Given the description of an element on the screen output the (x, y) to click on. 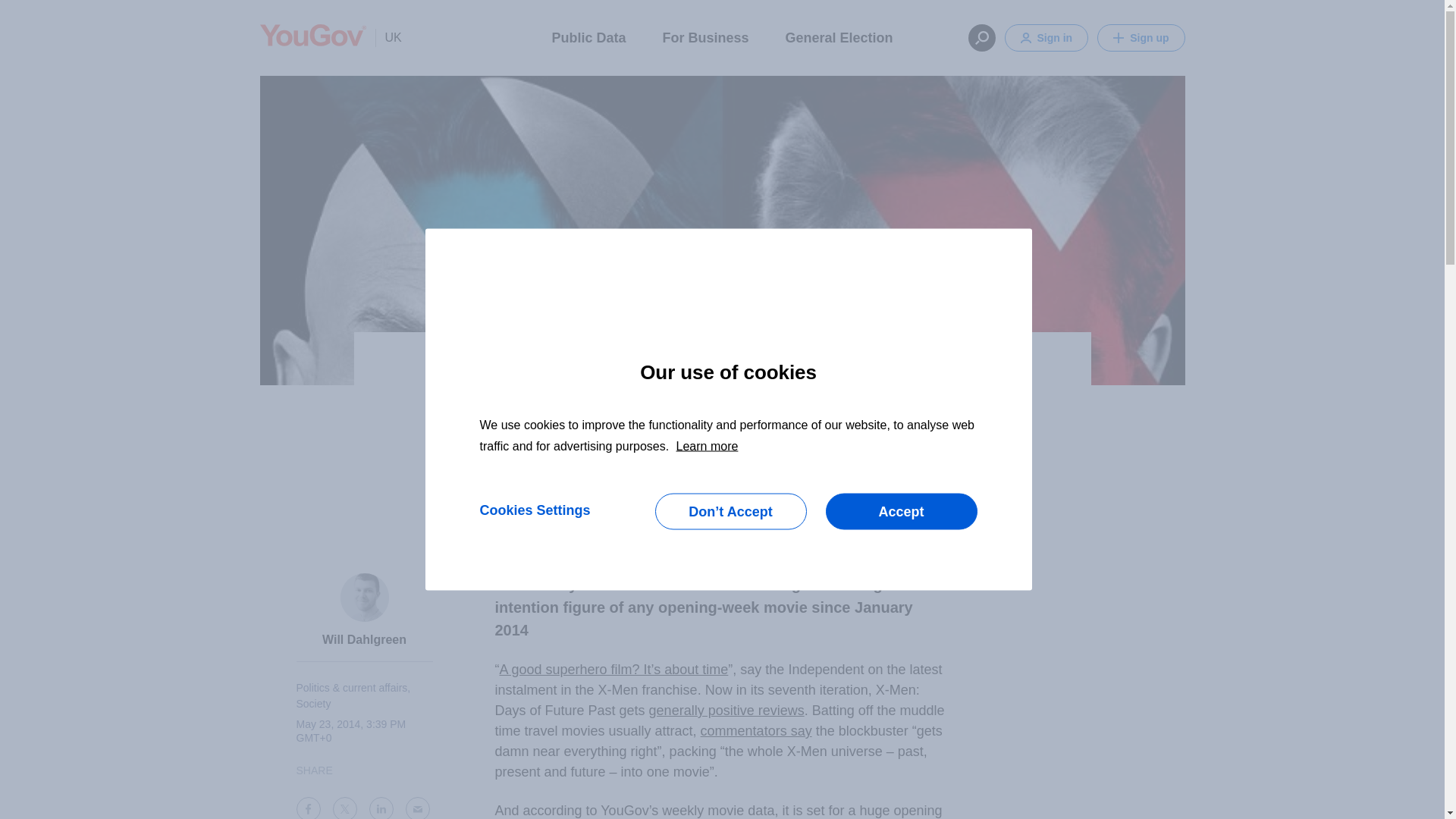
For Business (705, 37)
UK (387, 37)
Sign up (1141, 37)
General Election (839, 37)
Sign in (1045, 37)
Public Data (588, 37)
